Given the description of an element on the screen output the (x, y) to click on. 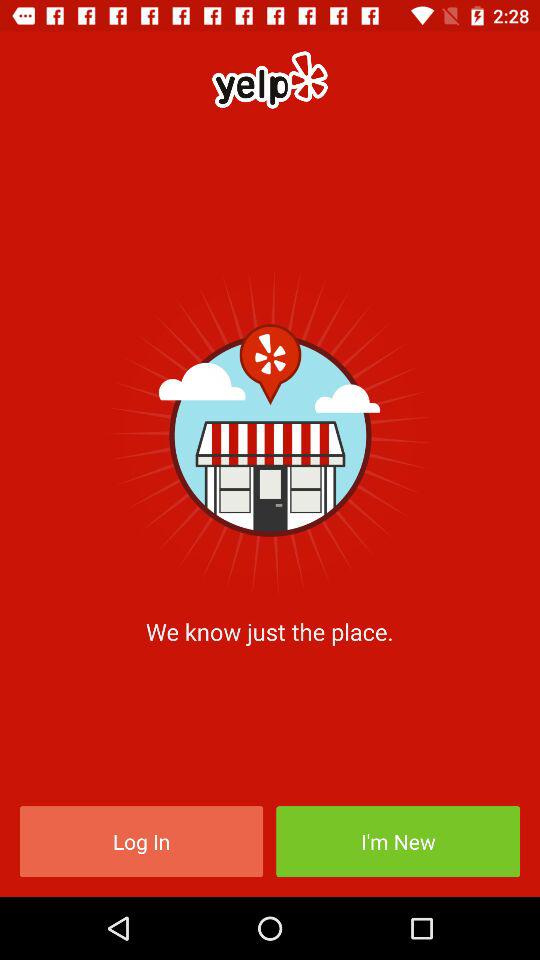
tap the log in at the bottom left corner (141, 841)
